Given the description of an element on the screen output the (x, y) to click on. 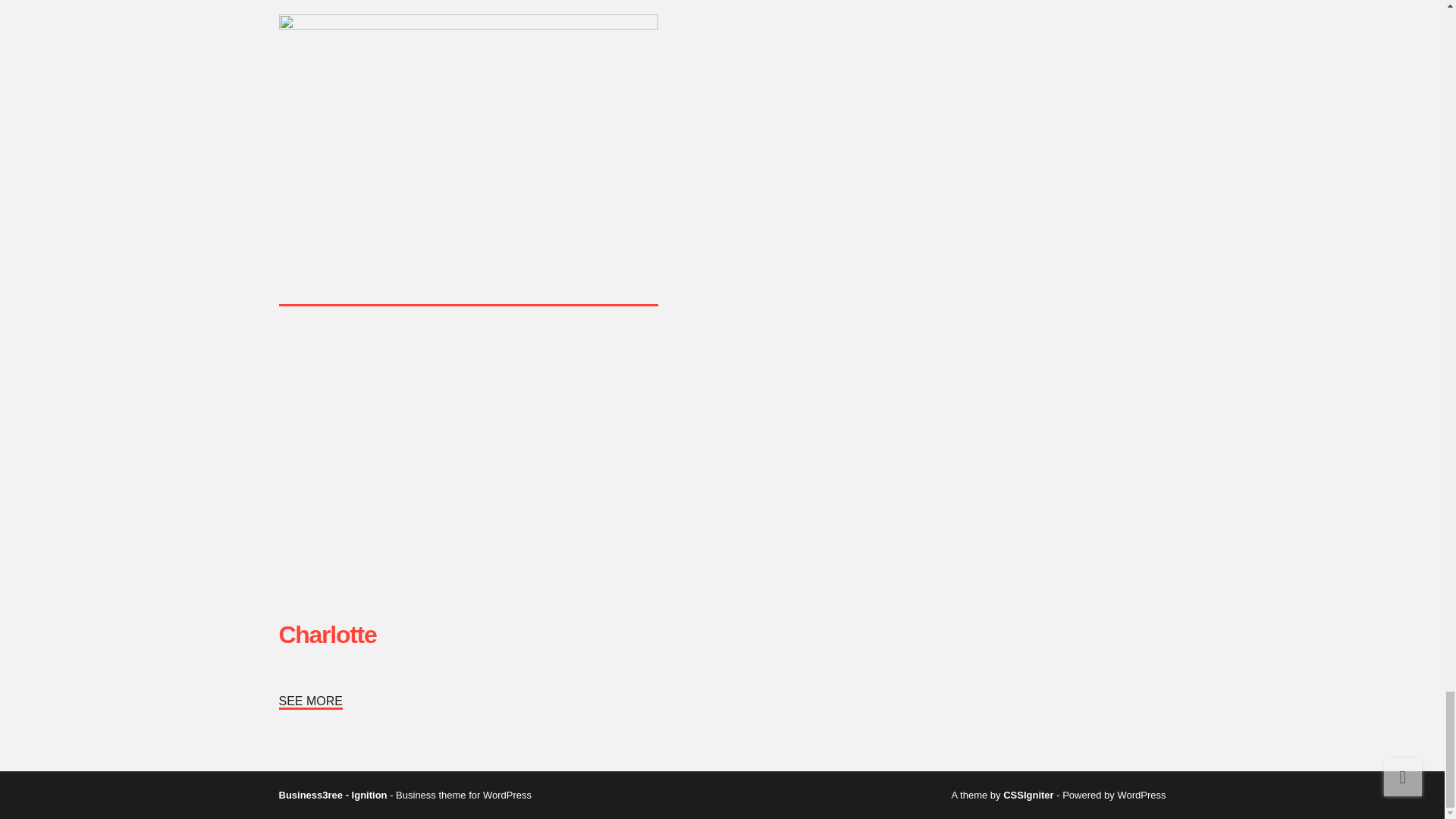
Business3ree - Ignition (333, 794)
Charlotte (328, 634)
SEE MORE (310, 711)
CSSIgniter (1027, 794)
